Given the description of an element on the screen output the (x, y) to click on. 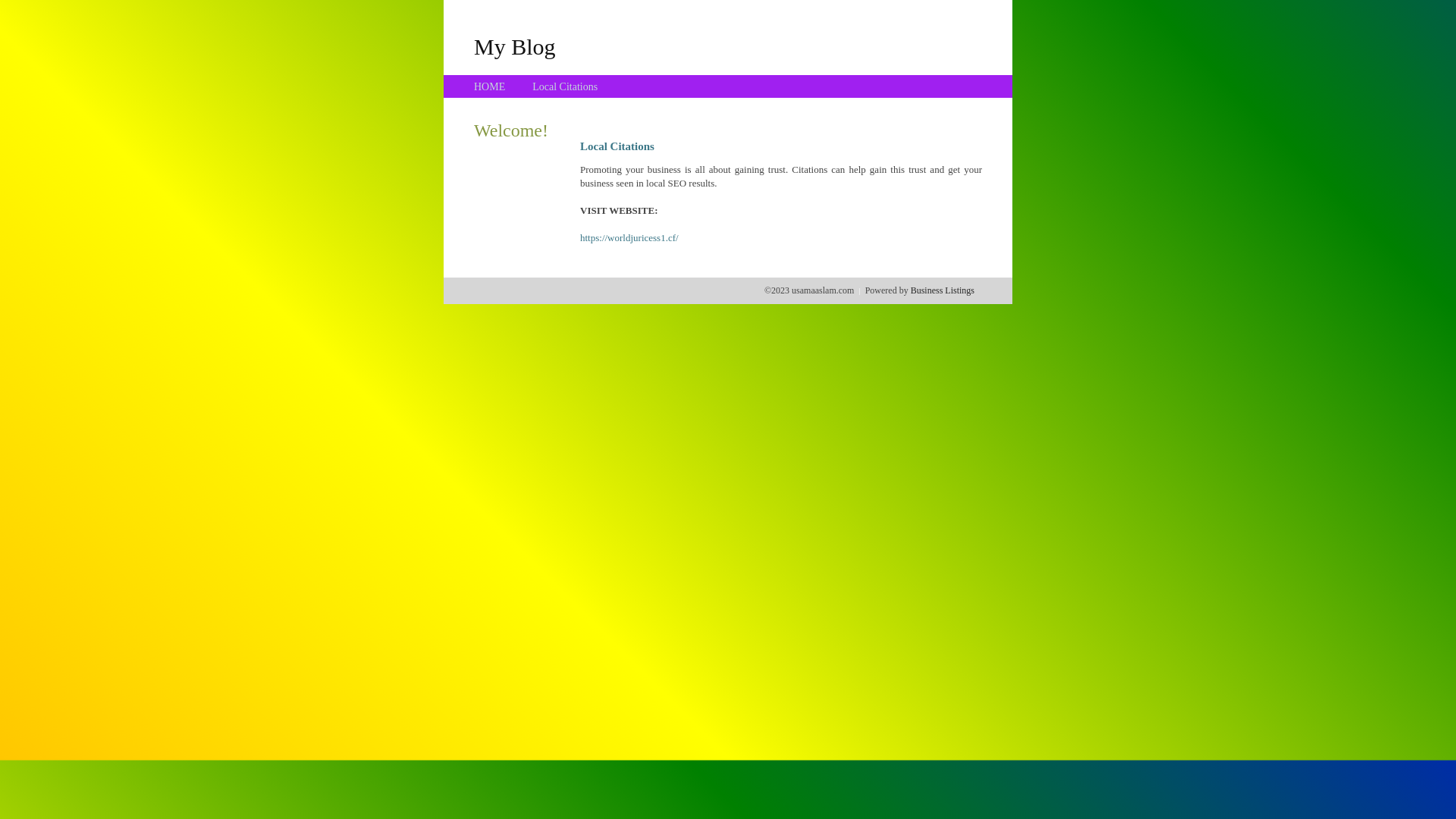
https://worldjuricess1.cf/ Element type: text (629, 237)
Local Citations Element type: text (564, 86)
HOME Element type: text (489, 86)
My Blog Element type: text (514, 46)
Business Listings Element type: text (942, 290)
